Given the description of an element on the screen output the (x, y) to click on. 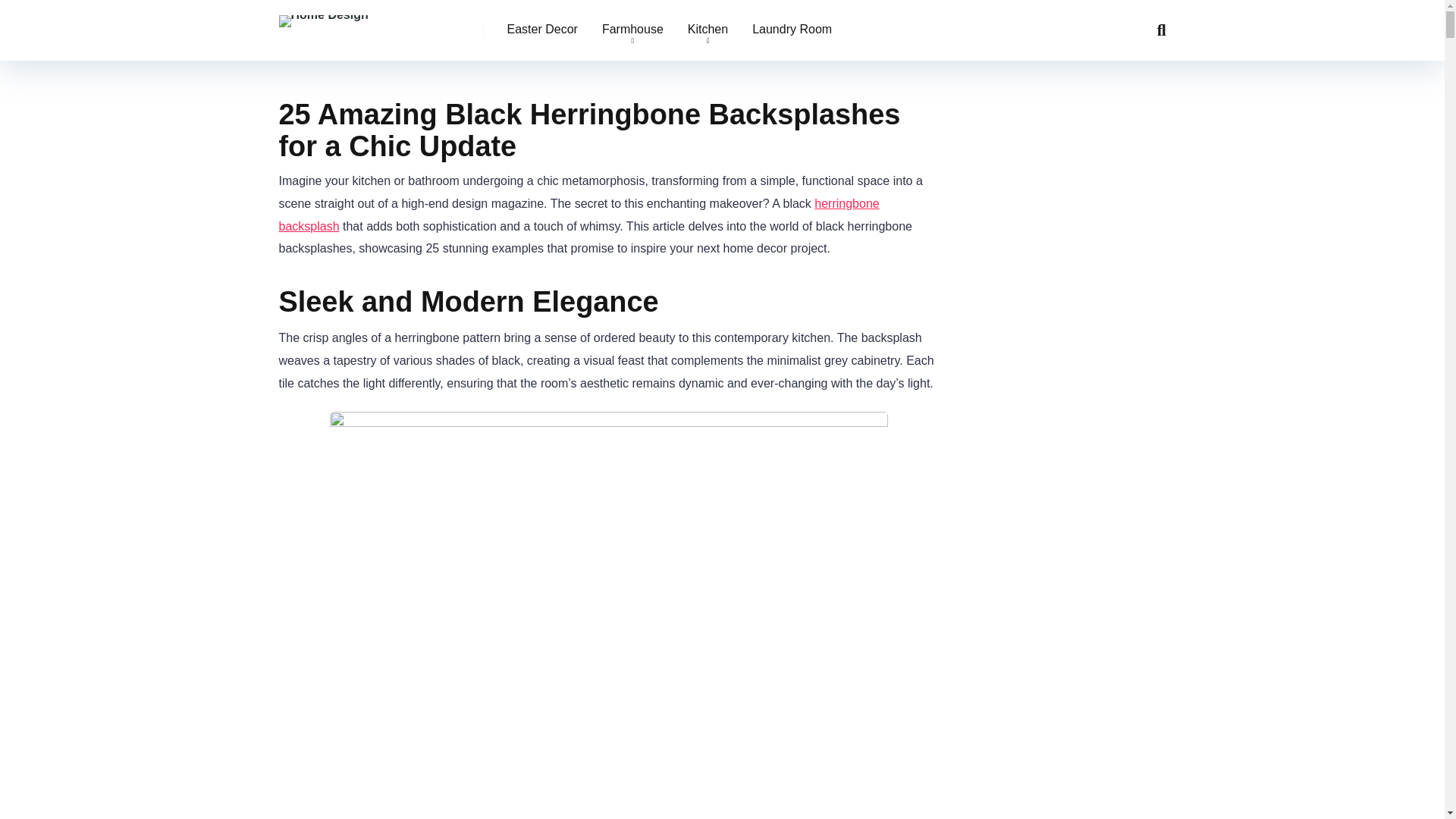
Kitchen (707, 30)
Laundry Room (791, 30)
Easter Decor (542, 30)
Farmhouse (632, 30)
Home Design (323, 15)
herringbone backsplash (579, 214)
